Given the description of an element on the screen output the (x, y) to click on. 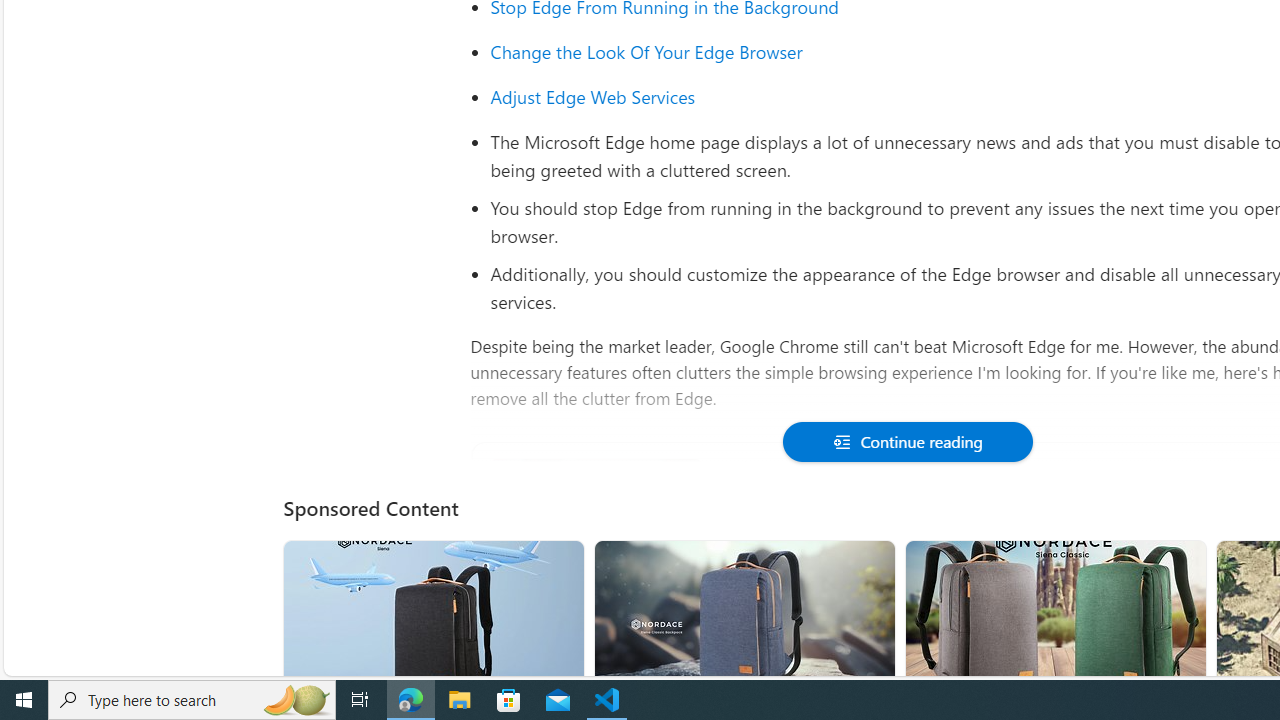
Change the Look Of Your Edge Browser (646, 52)
Adjust Edge Web Services (593, 96)
